Given the description of an element on the screen output the (x, y) to click on. 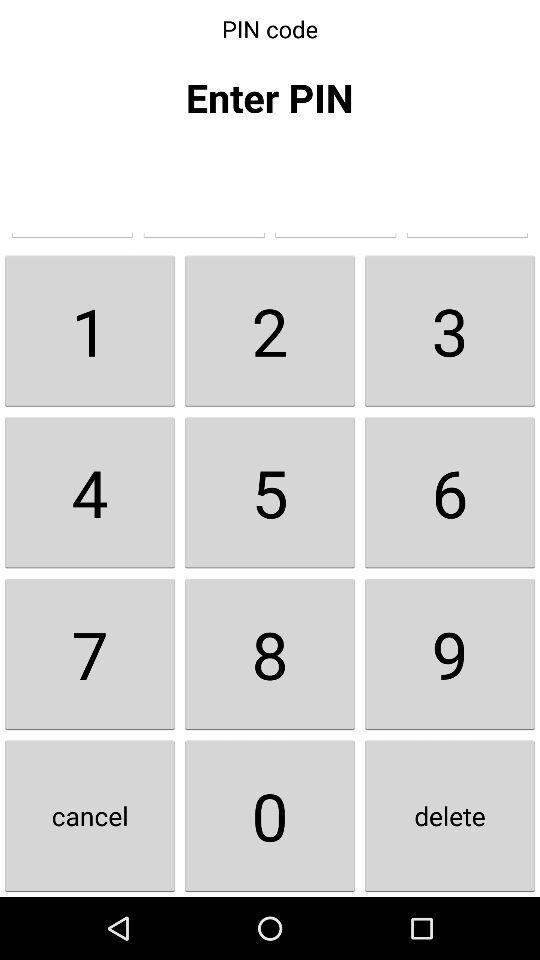
scroll to 5 button (270, 492)
